Given the description of an element on the screen output the (x, y) to click on. 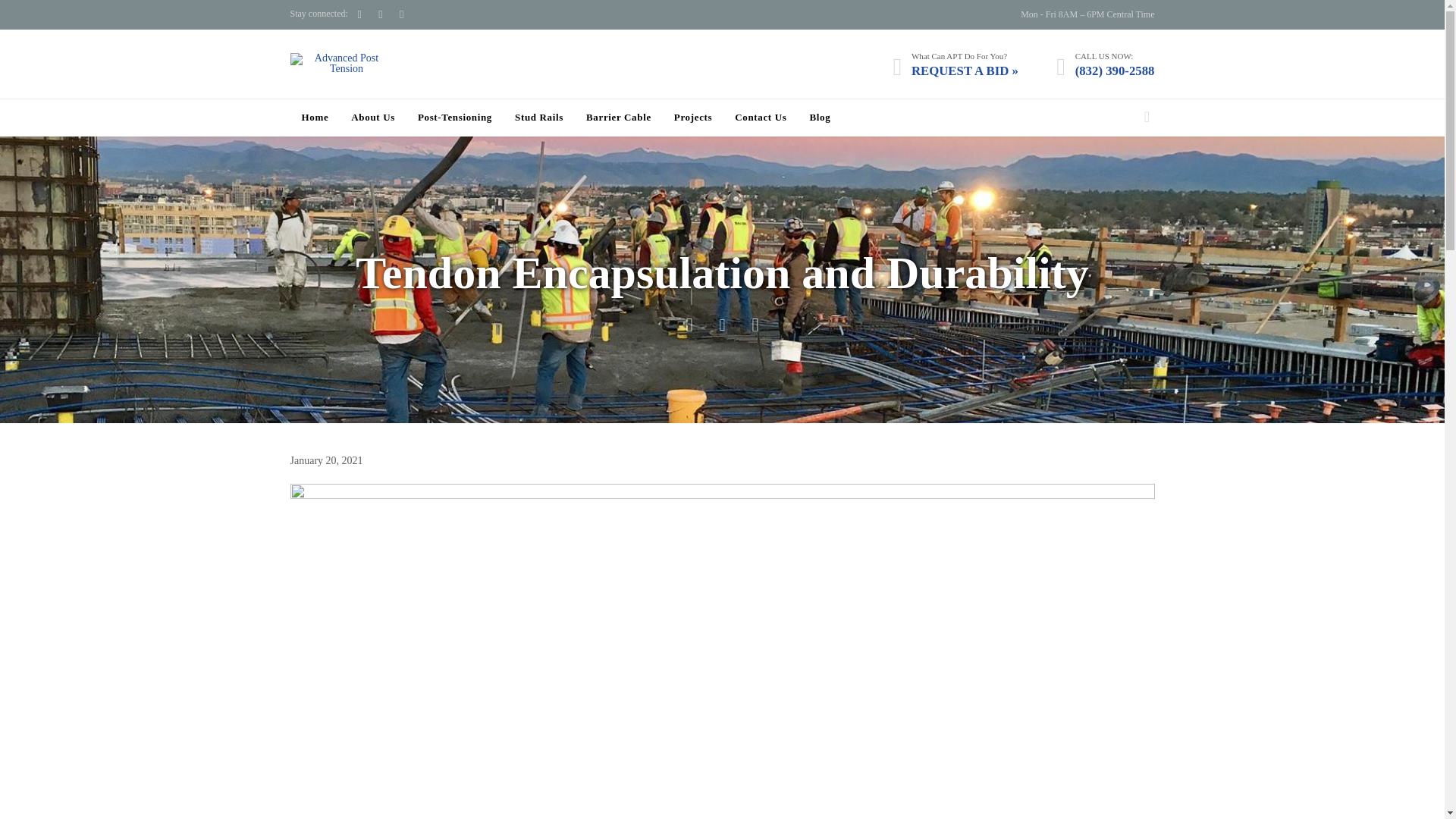
Advanced Post Tension (339, 63)
About Us (372, 118)
Projects (692, 118)
Stud Rails (539, 118)
Post-Tensioning (454, 118)
Barrier Cable (618, 118)
Contact Us (760, 118)
